Given the description of an element on the screen output the (x, y) to click on. 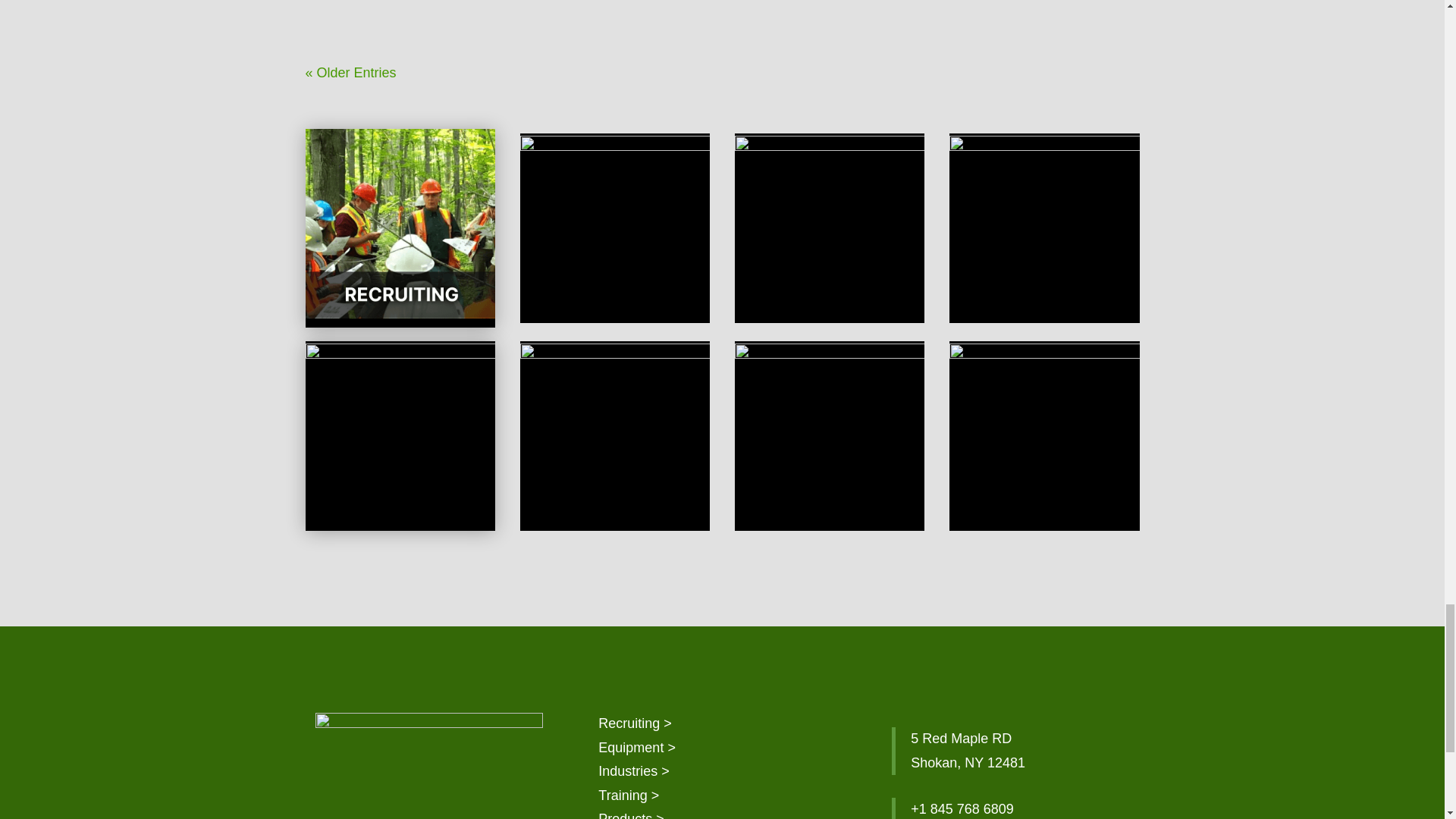
Recruiting Information (634, 723)
Training Information (628, 795)
Equipment Information (636, 747)
Products (630, 815)
Industries (633, 770)
